Given the description of an element on the screen output the (x, y) to click on. 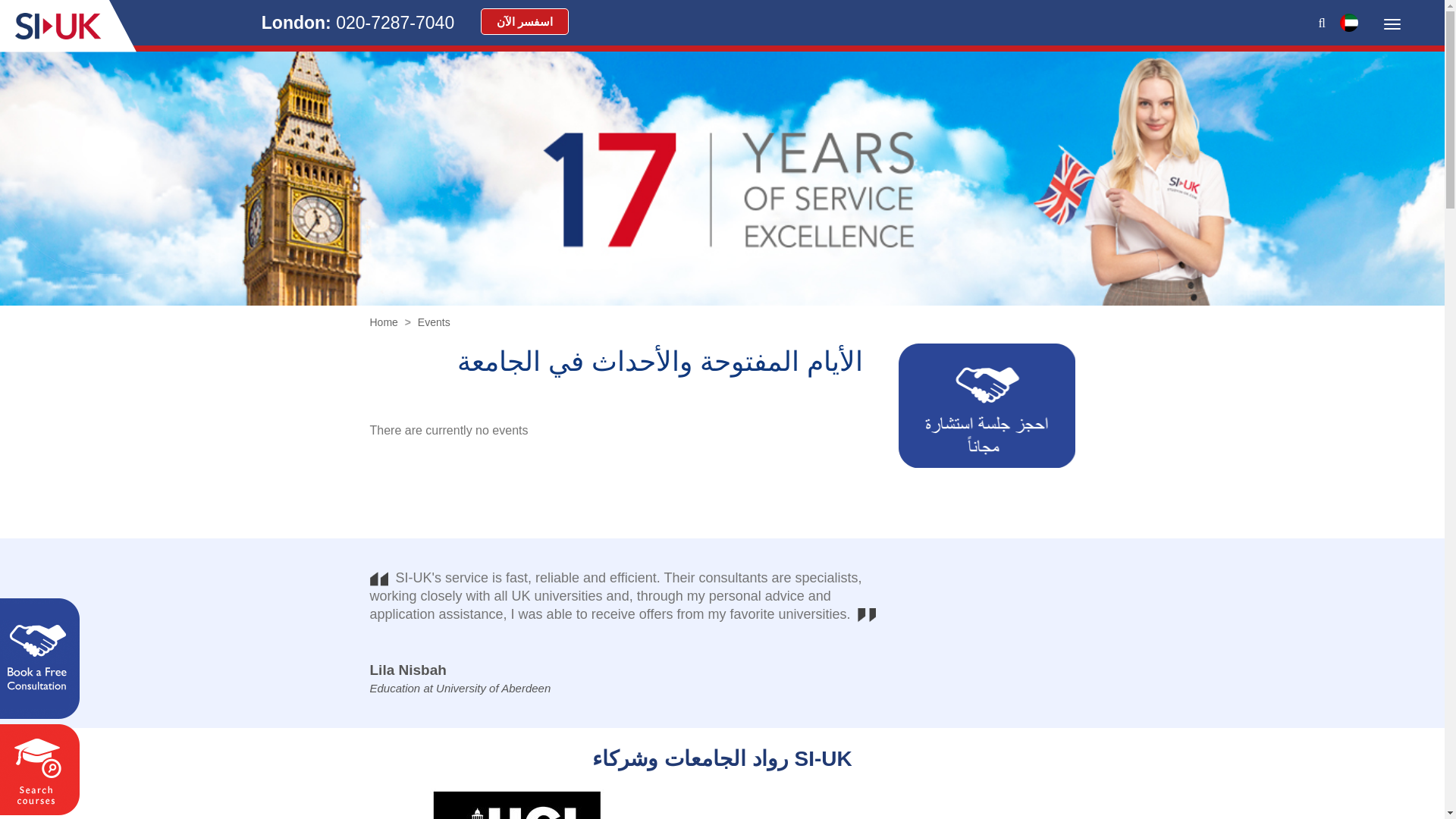
London: 020-7287-7040 (358, 22)
